Given the description of an element on the screen output the (x, y) to click on. 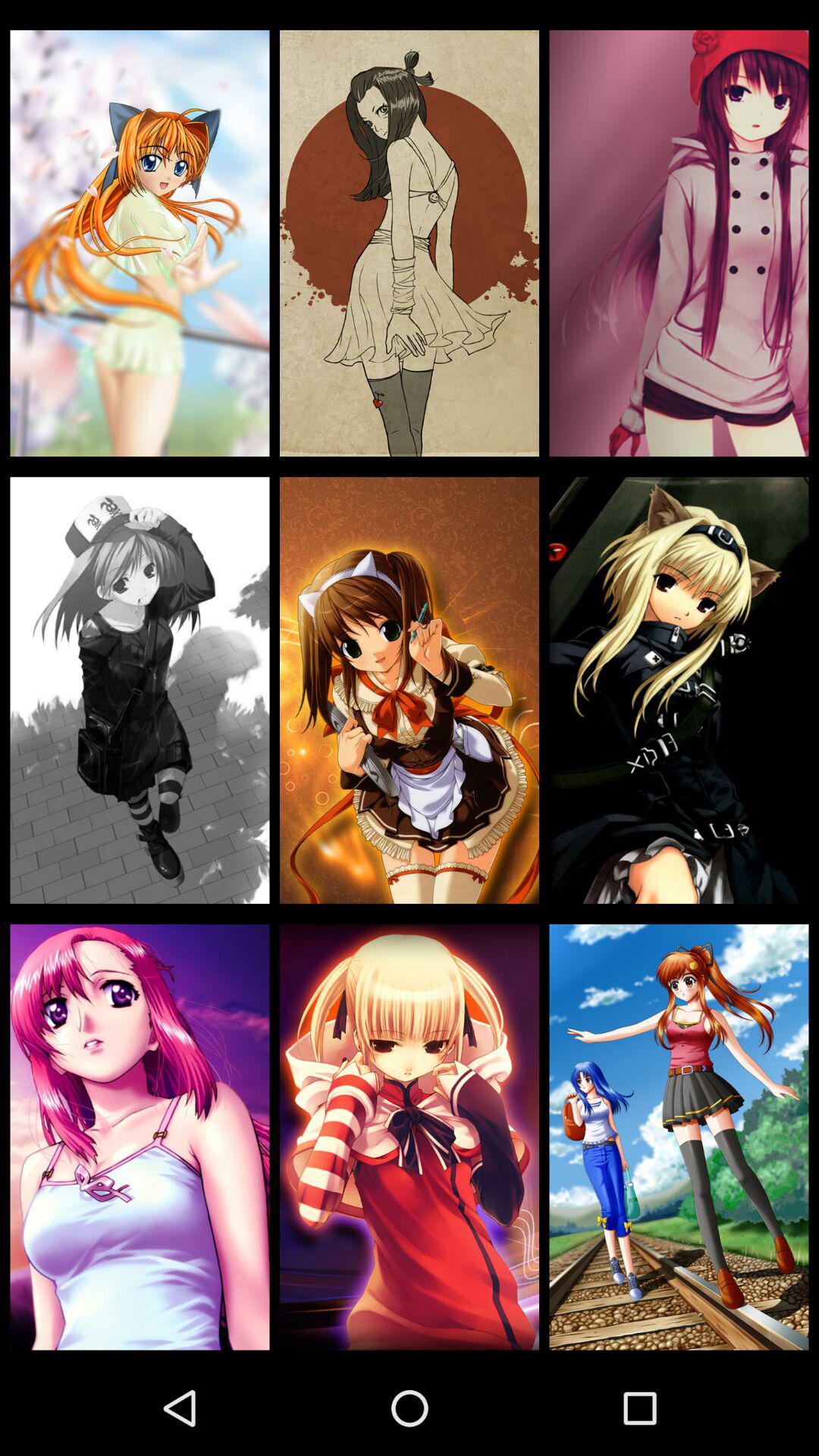
select avatar (409, 1137)
